Given the description of an element on the screen output the (x, y) to click on. 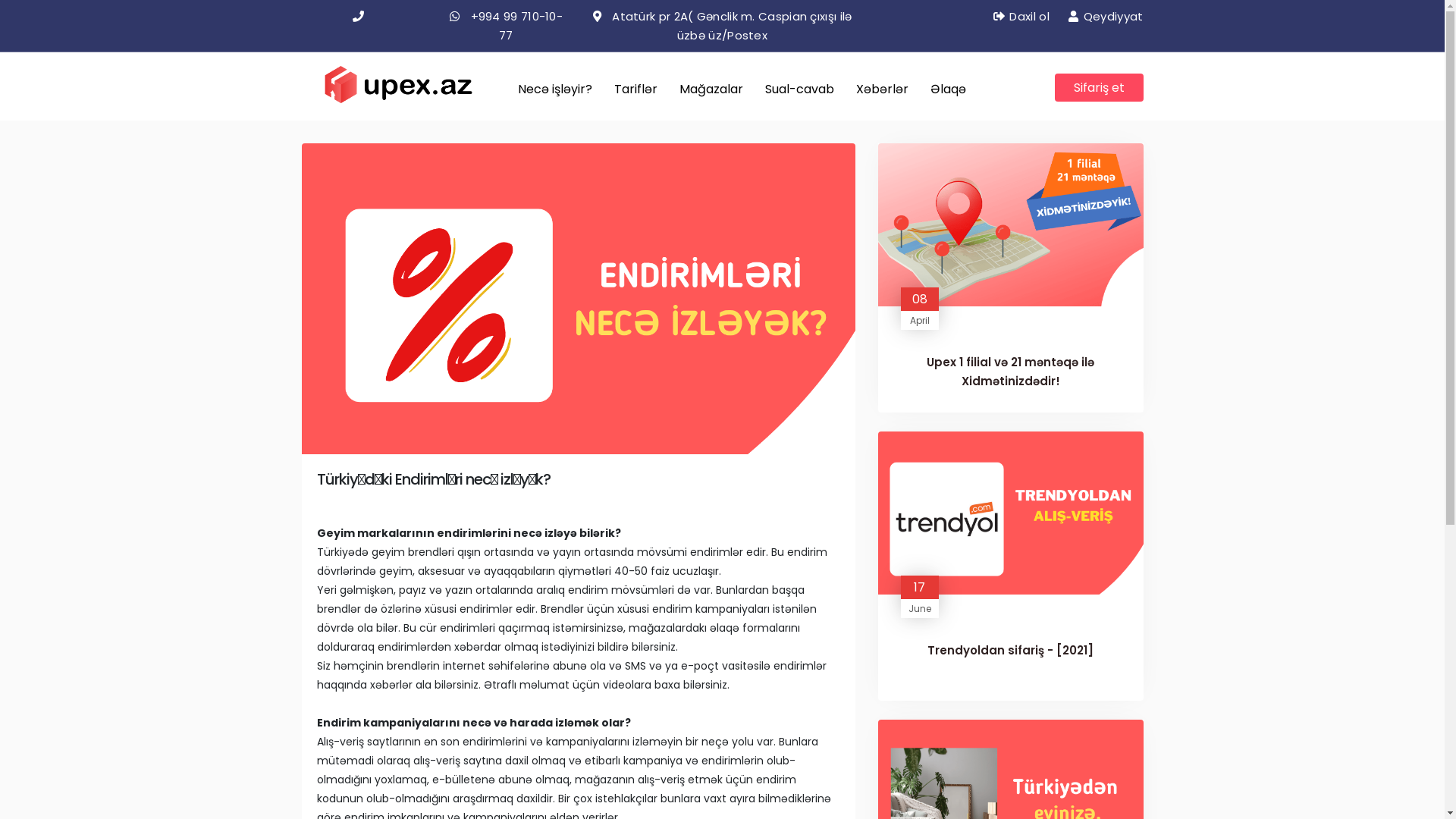
Sual-cavab Element type: text (798, 88)
Daxil ol Element type: text (1021, 16)
08
April Element type: text (919, 307)
17
June Element type: text (919, 595)
Qeydiyyat Element type: text (1105, 16)
